Given the description of an element on the screen output the (x, y) to click on. 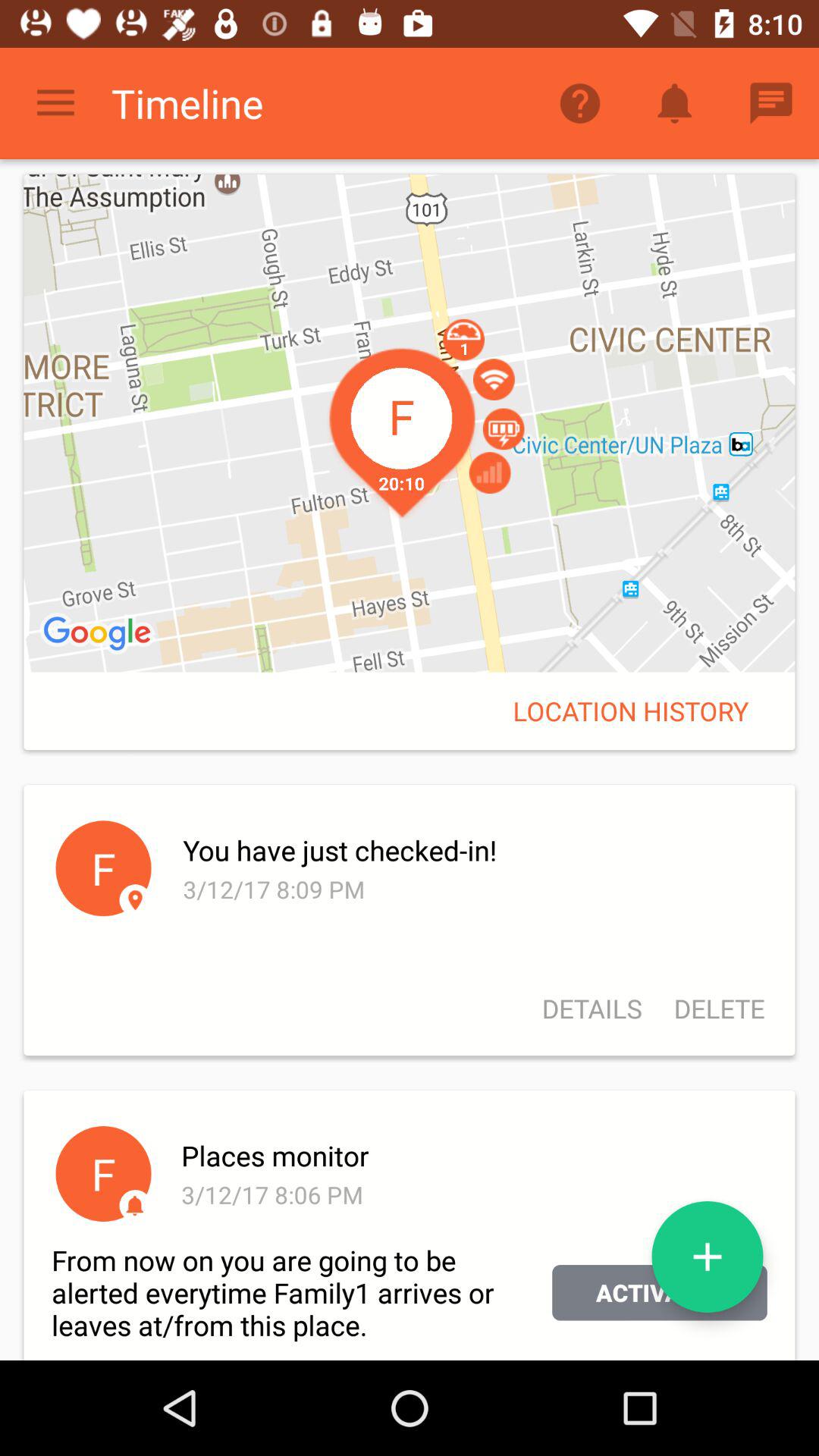
tap icon above the f icon (99, 634)
